Given the description of an element on the screen output the (x, y) to click on. 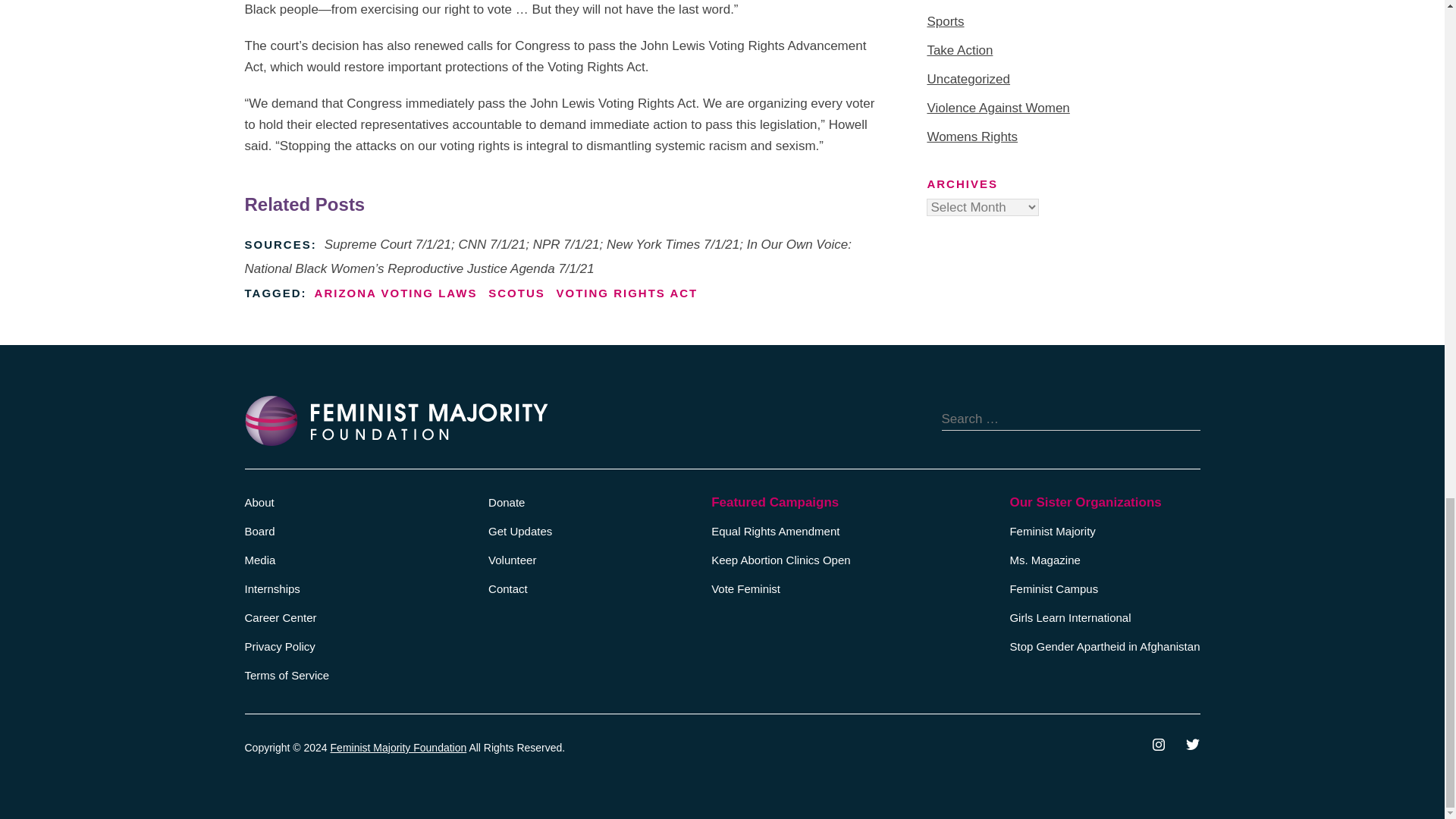
ARIZONA VOTING LAWS (395, 292)
SCOTUS (515, 292)
Search (1187, 418)
Search (1187, 418)
